Given the description of an element on the screen output the (x, y) to click on. 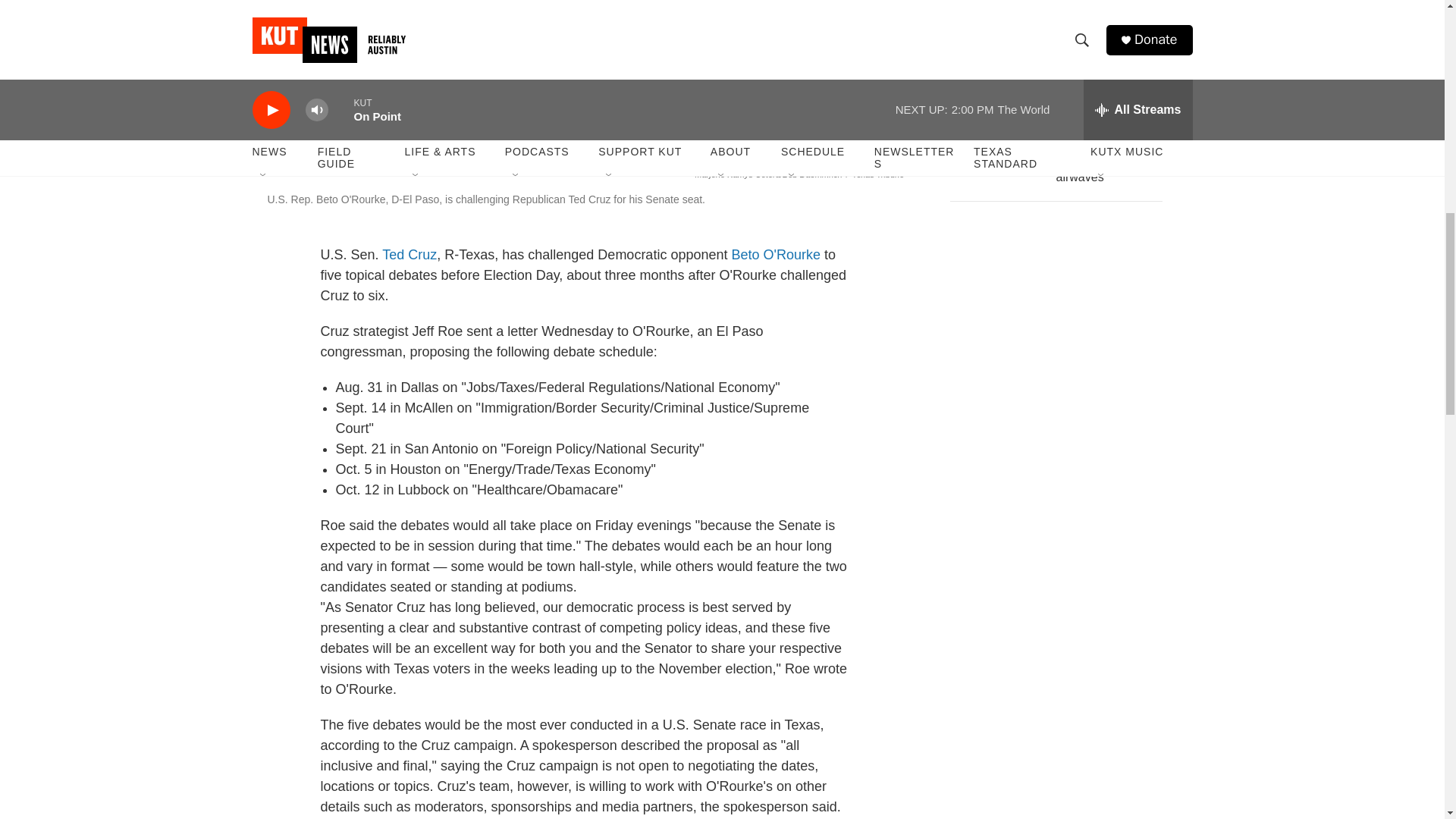
3rd party ad content (1062, 326)
3rd party ad content (1062, 546)
